Given the description of an element on the screen output the (x, y) to click on. 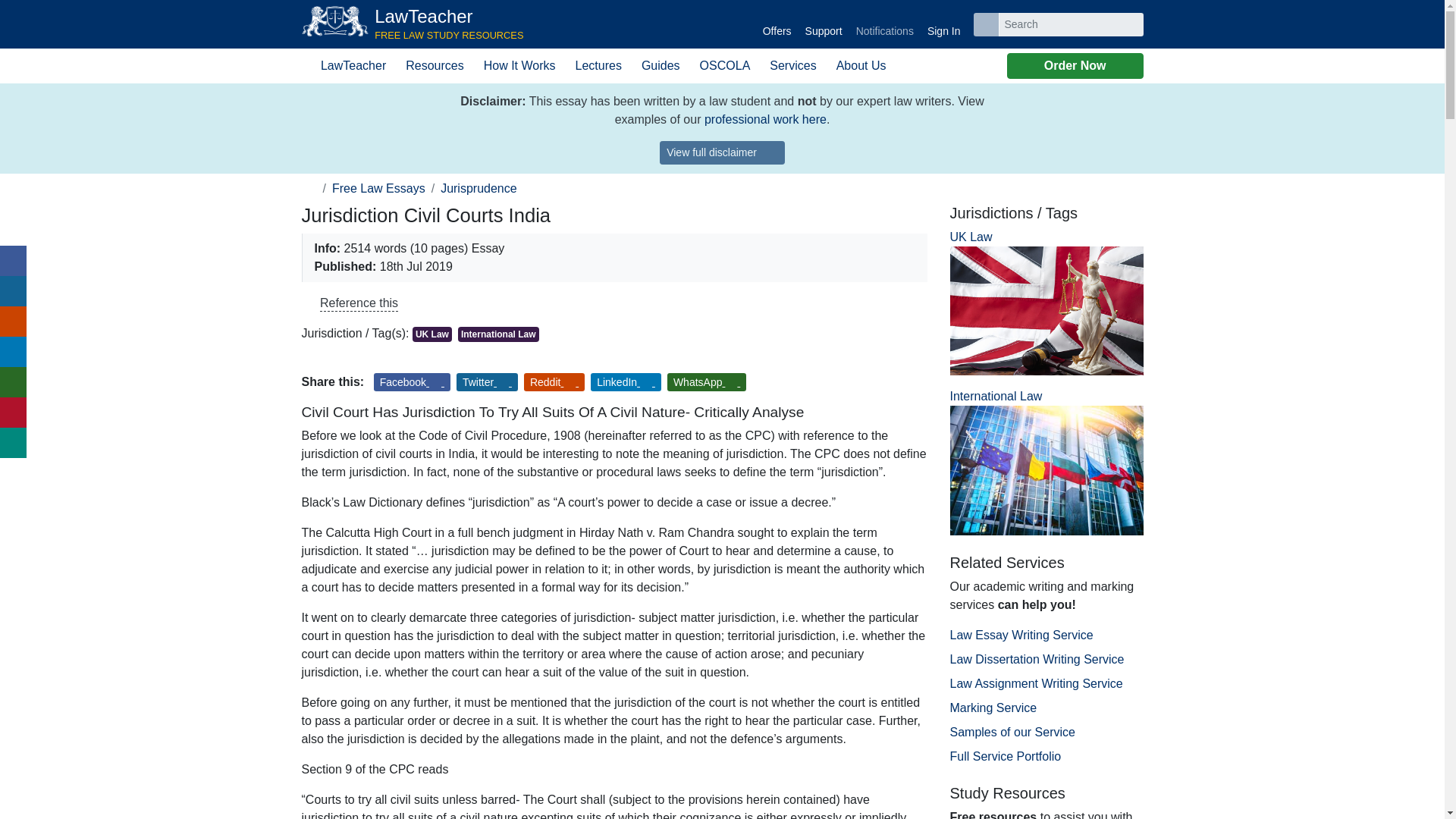
Support (822, 23)
Sign In (944, 23)
samples of our writing service (765, 119)
Offers (776, 23)
Go to the LawTeacher homepage (412, 23)
View full disclaimer (721, 152)
Notifications (412, 23)
homepage link (884, 23)
